Given the description of an element on the screen output the (x, y) to click on. 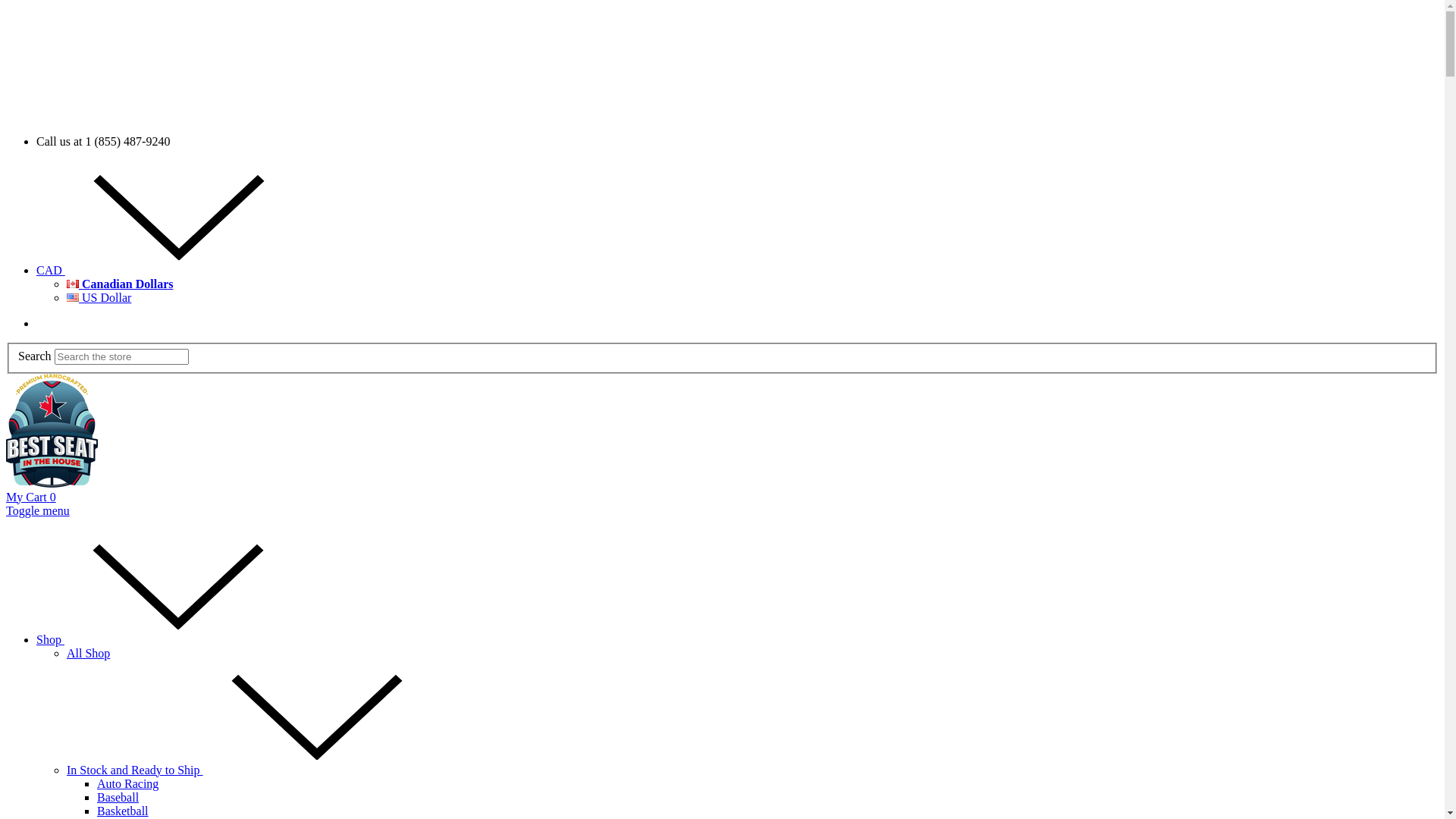
Baseball Element type: text (117, 796)
Basketball Element type: text (122, 810)
US Dollar Element type: text (98, 297)
Toggle menu Element type: text (37, 510)
Shop Element type: text (163, 639)
My Cart 0 Element type: text (31, 496)
Auto Racing Element type: text (127, 783)
In Stock and Ready to Ship Element type: text (248, 769)
CAD Element type: text (164, 269)
Canadian Dollars Element type: text (119, 283)
Best Seat In The House Incorporated Element type: hover (51, 430)
All Shop Element type: text (87, 652)
